Given the description of an element on the screen output the (x, y) to click on. 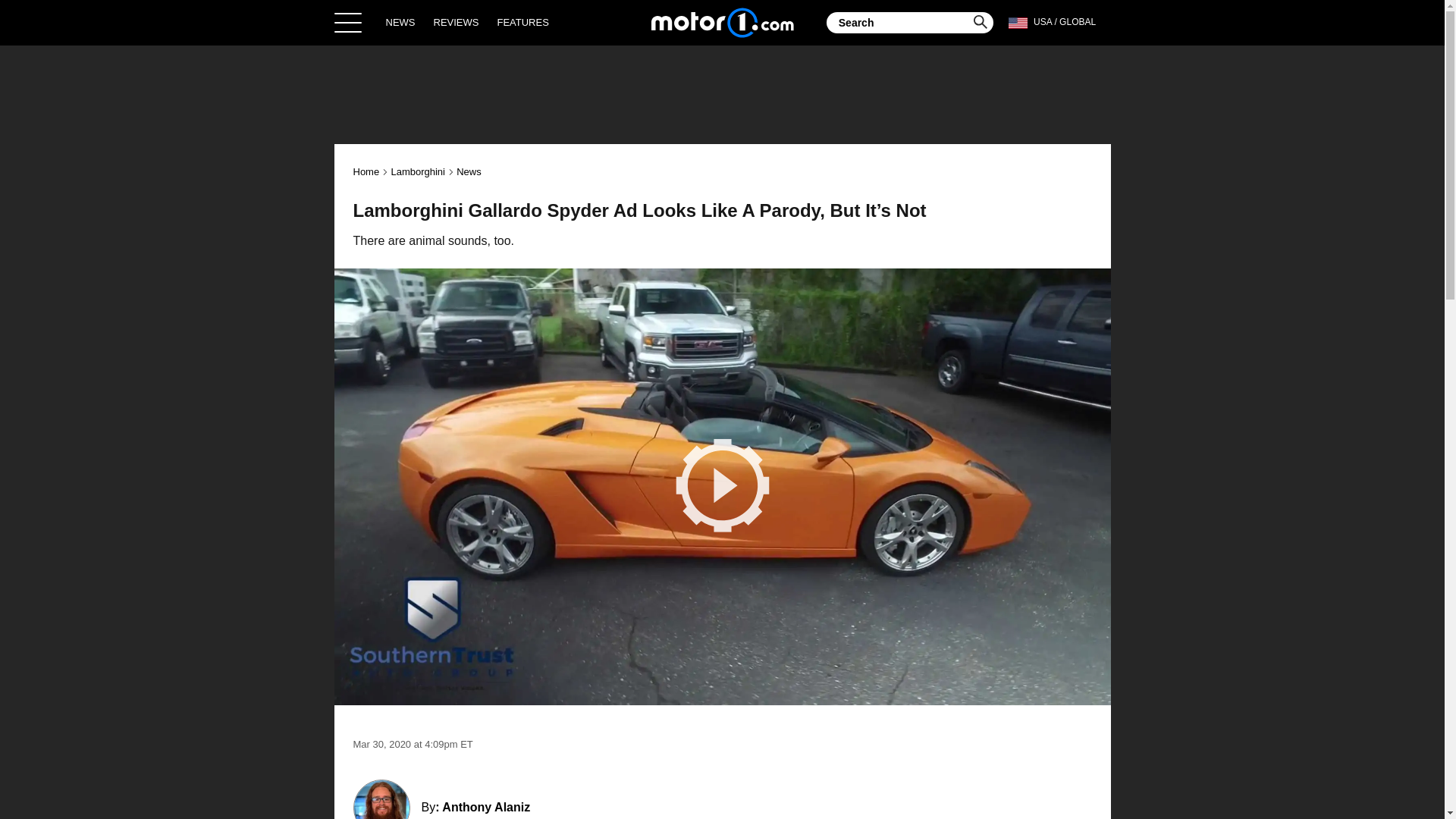
Home (721, 22)
Lamborghini (417, 171)
Anthony Alaniz (485, 807)
REVIEWS (456, 22)
News (469, 171)
FEATURES (522, 22)
NEWS (399, 22)
Home (366, 171)
